Given the description of an element on the screen output the (x, y) to click on. 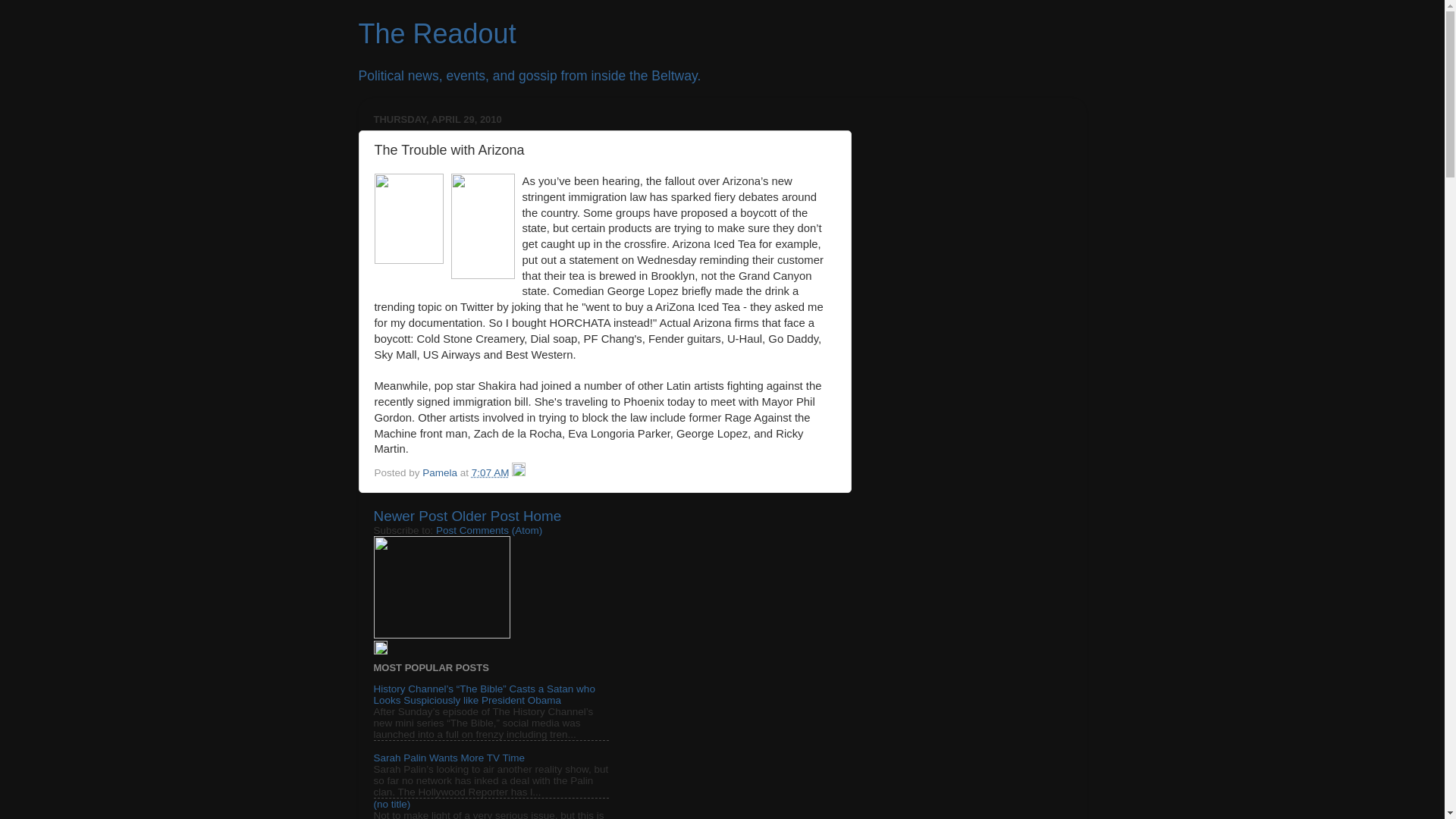
Sarah Palin Wants More TV Time (448, 757)
Home (541, 515)
author profile (441, 472)
7:07 AM (490, 472)
Newer Post (409, 515)
permanent link (490, 472)
Edit (379, 650)
Newer Post (409, 515)
Edit Post (518, 472)
Older Post (484, 515)
